Given the description of an element on the screen output the (x, y) to click on. 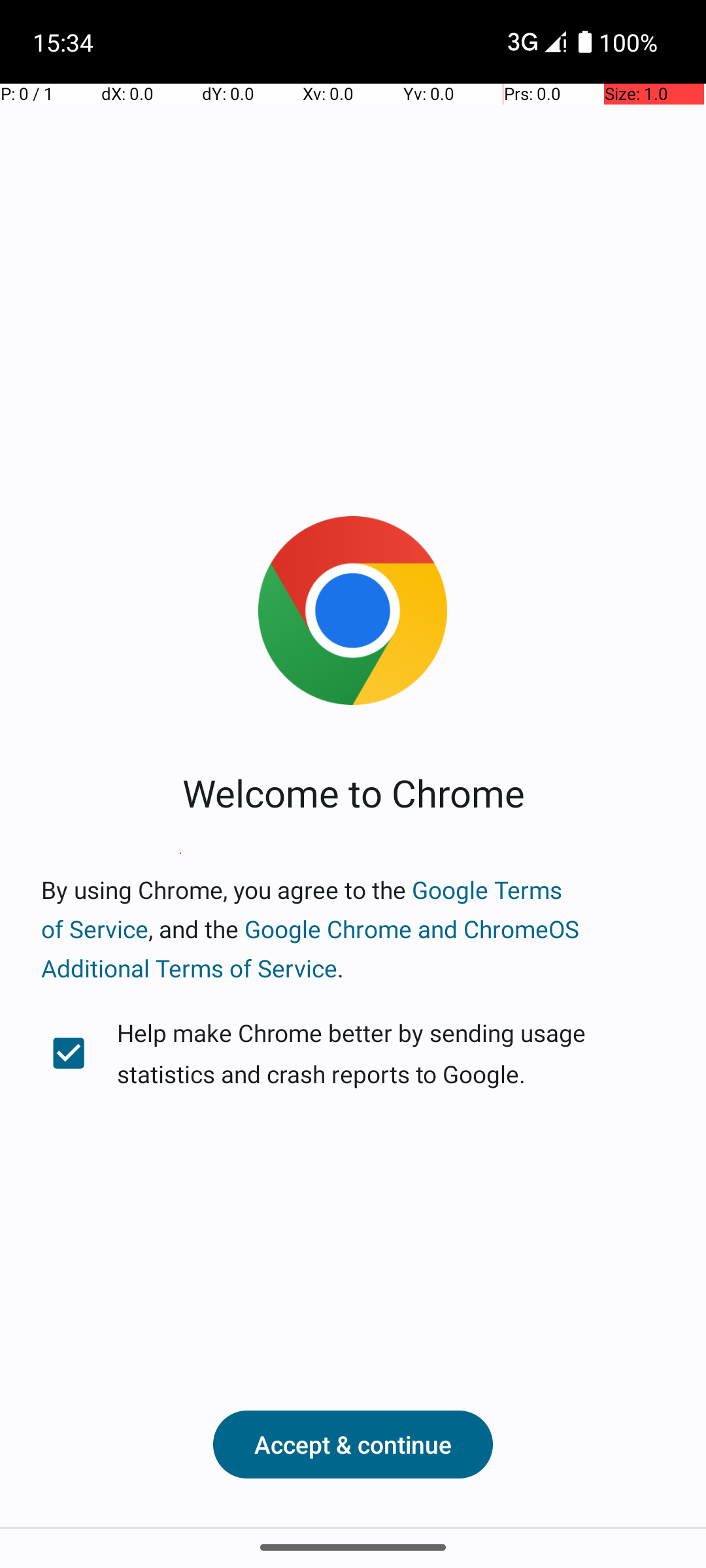
By using Chrome, you agree to the Google Terms of Service, and the Google Chrome and ChromeOS Additional Terms of Service. Element type: android.widget.TextView (352, 928)
Help make Chrome better by sending usage statistics and crash reports to Google. Element type: android.widget.CheckBox (352, 1053)
